Given the description of an element on the screen output the (x, y) to click on. 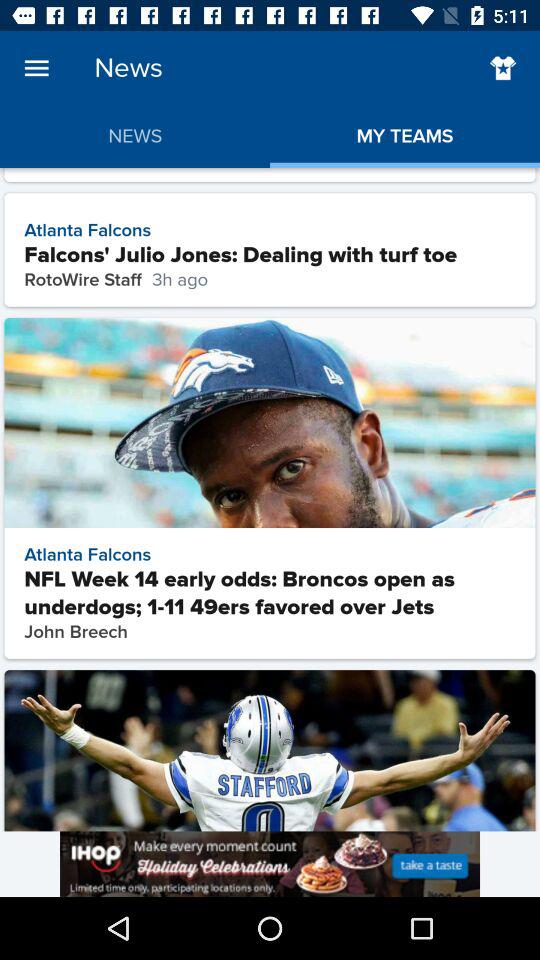
save (502, 68)
